Given the description of an element on the screen output the (x, y) to click on. 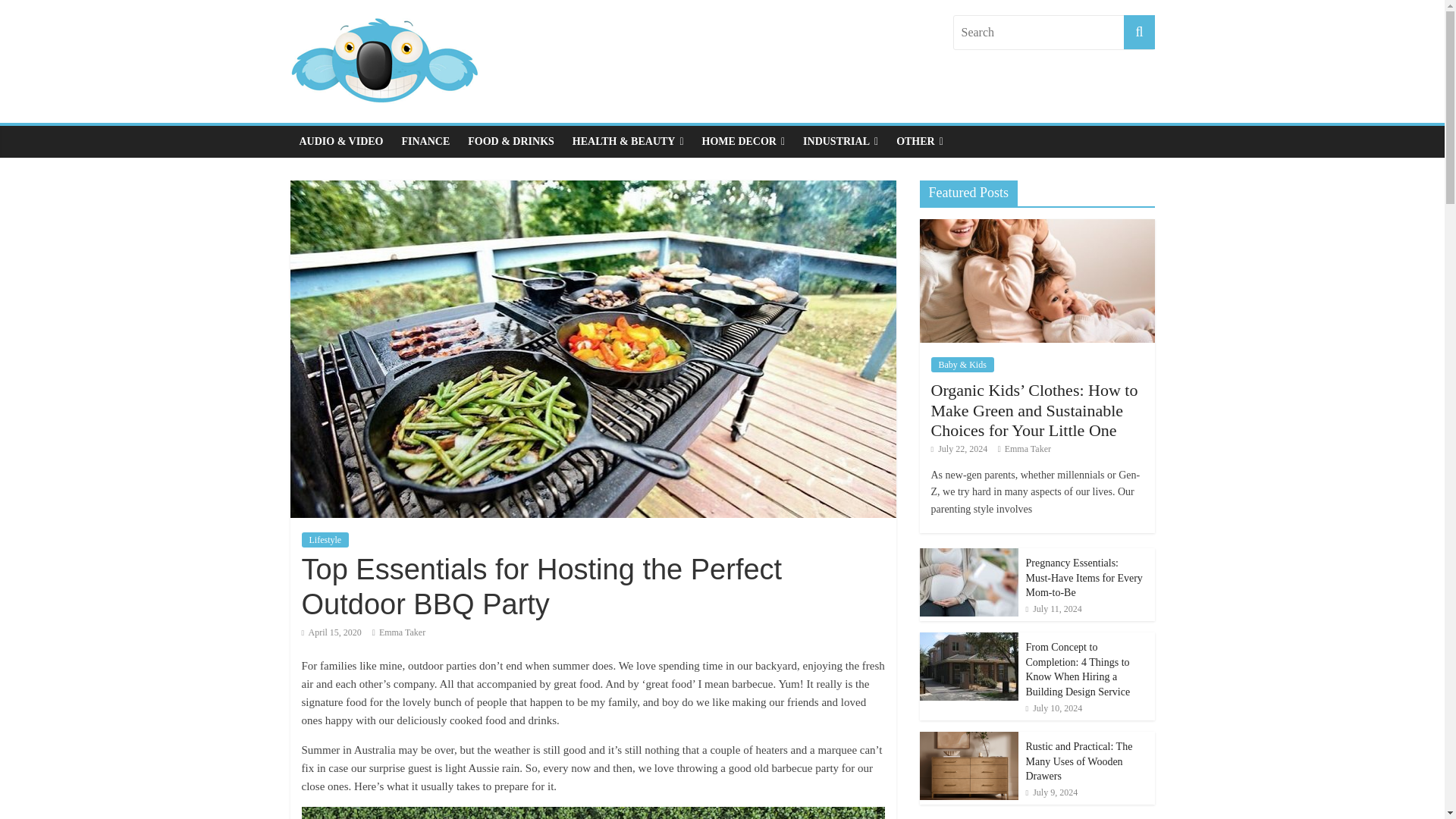
HOME DECOR (743, 142)
Pregnancy Essentials: Must-Have Items for Every Mom-to-Be (1083, 577)
Lifestyle (325, 539)
OTHER (919, 142)
Pregnancy Essentials: Must-Have Items for Every Mom-to-Be (967, 555)
Pregnancy Essentials: Must-Have Items for Every Mom-to-Be (1083, 577)
Rustic and Practical: The Many Uses of Wooden Drawers (967, 739)
Blue Koala (384, 59)
Rustic and Practical: The Many Uses of Wooden Drawers (967, 766)
FINANCE (424, 142)
Rustic and Practical: The Many Uses of Wooden Drawers (1078, 761)
INDUSTRIAL (839, 142)
